Given the description of an element on the screen output the (x, y) to click on. 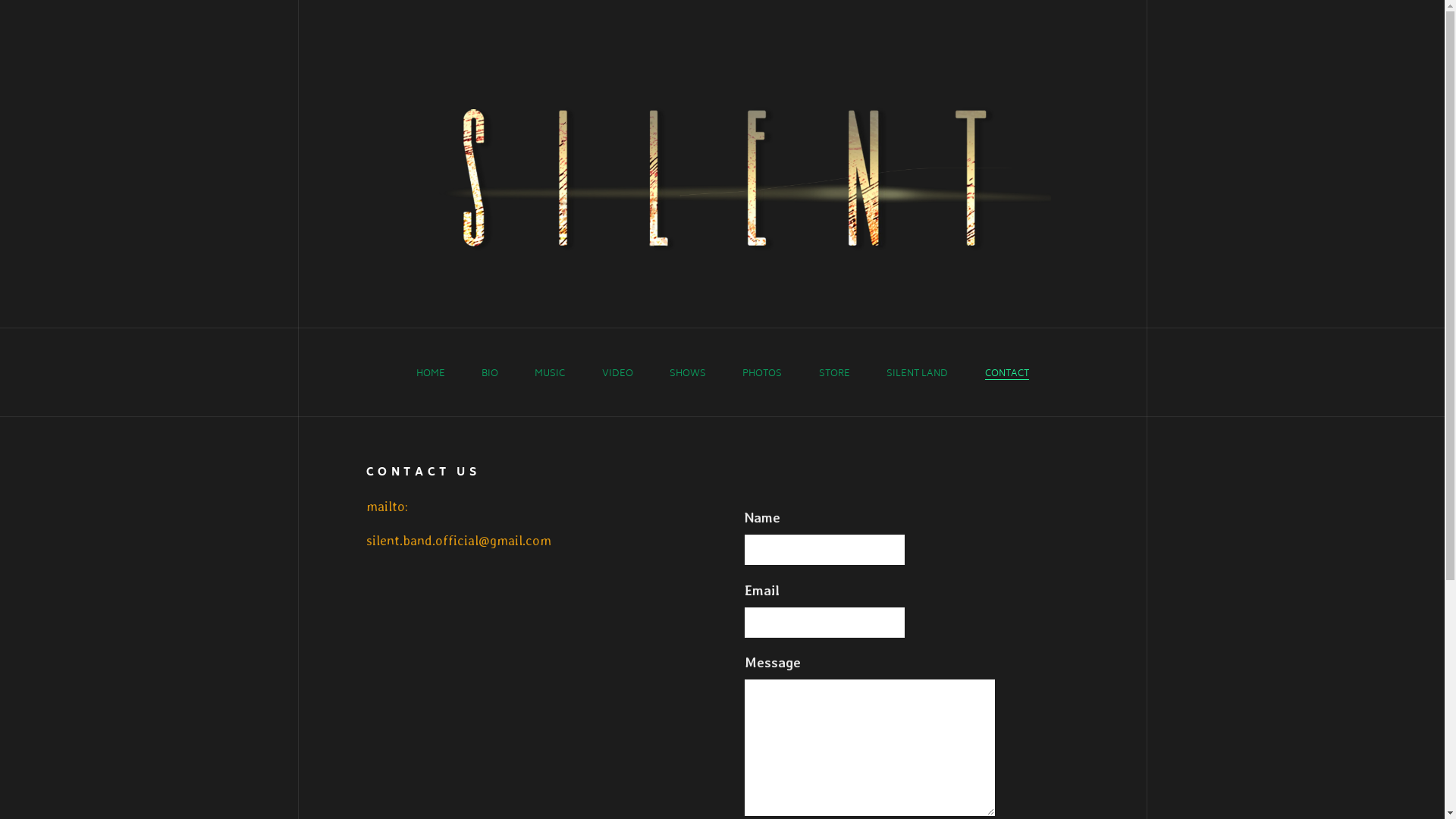
HOME Element type: text (429, 374)
VIDEO Element type: text (617, 374)
mailto: Element type: text (386, 506)
PHOTOS Element type: text (761, 374)
SHOWS Element type: text (687, 374)
STORE Element type: text (834, 374)
BIO Element type: text (489, 374)
SILENT LAND Element type: text (916, 374)
MUSIC Element type: text (549, 374)
silent.band.official@gmail.com Element type: text (457, 540)
CONTACT Element type: text (1006, 374)
